Given the description of an element on the screen output the (x, y) to click on. 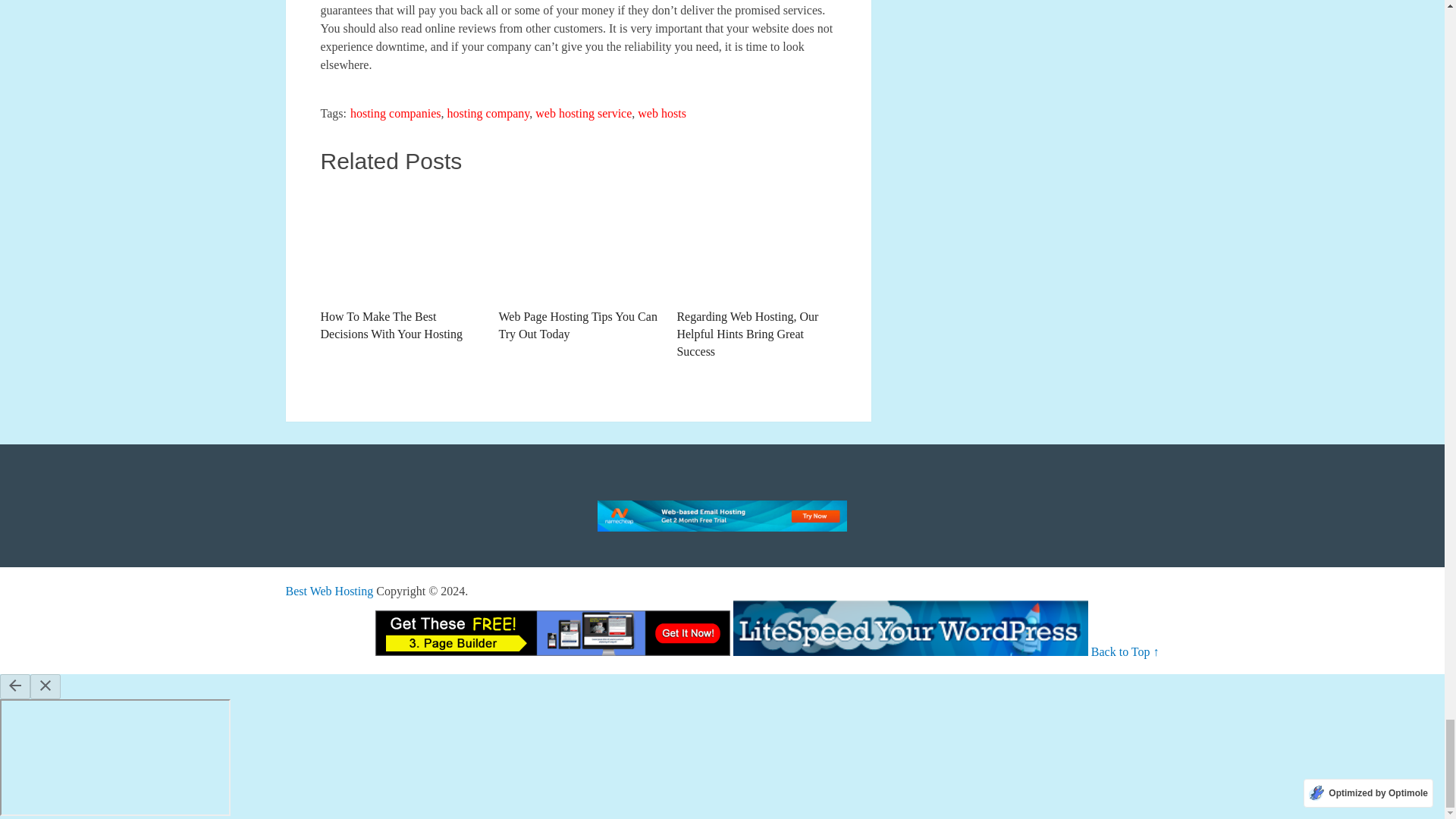
hosting company (487, 113)
Regarding Web Hosting, Our Helpful Hints Bring Great Success (756, 273)
How To Make The Best Decisions With Your Hosting (399, 264)
Web Page Hosting Tips You Can Try Out Today (577, 264)
web hosting service (583, 113)
hosting companies (395, 113)
web hosts (661, 113)
How To Make The Best Decisions With Your Hosting (399, 264)
How To Make The Best Decisions With Your Hosting (399, 243)
